Given the description of an element on the screen output the (x, y) to click on. 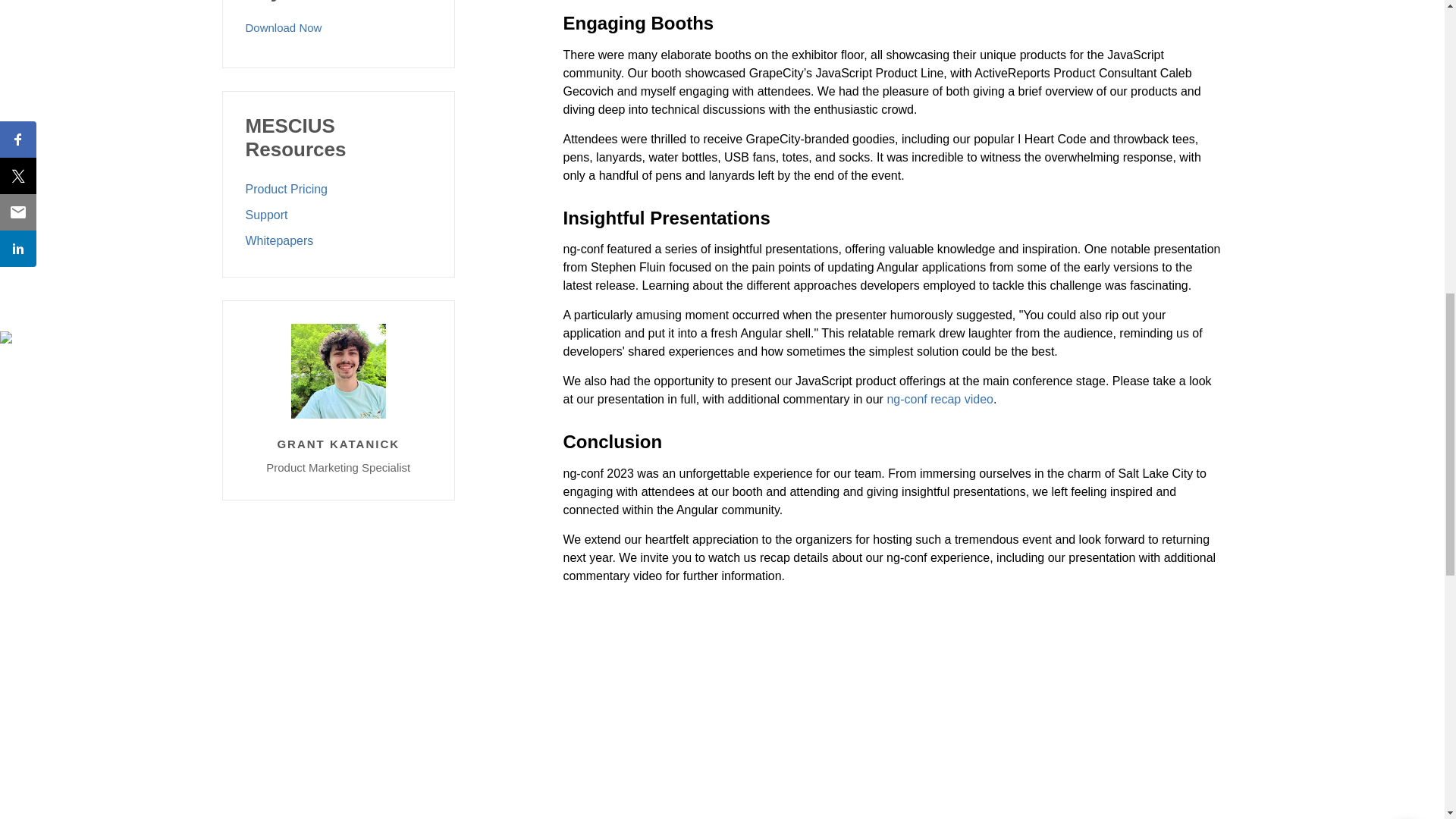
YouTube video player (774, 719)
